Given the description of an element on the screen output the (x, y) to click on. 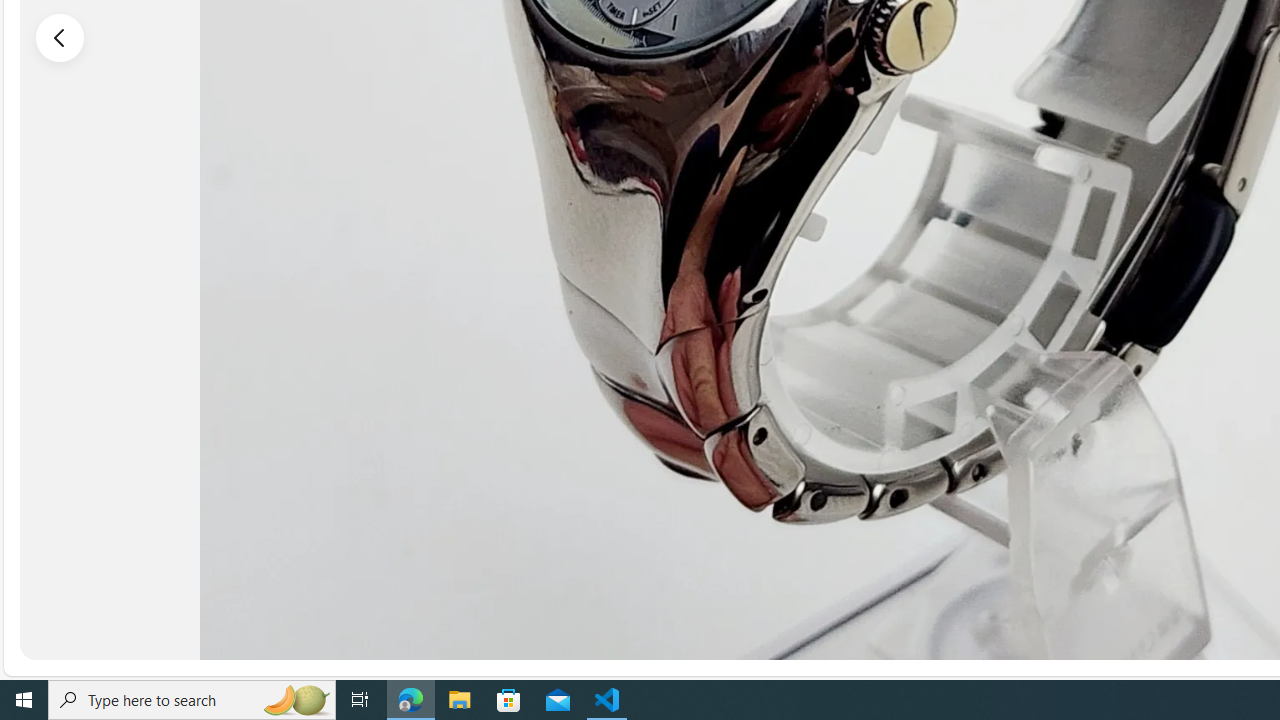
Previous image - Item images thumbnails (59, 37)
